Given the description of an element on the screen output the (x, y) to click on. 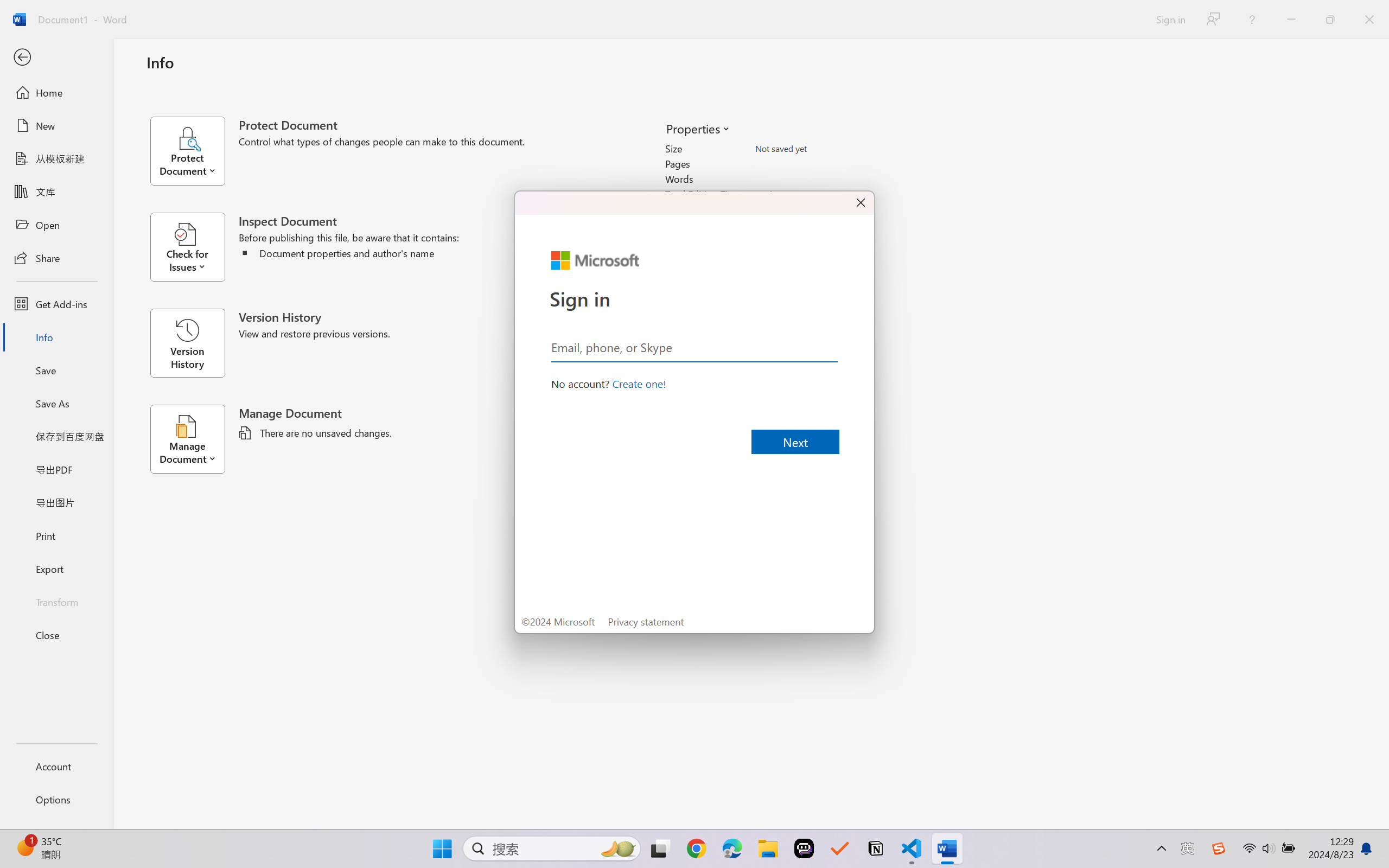
Words (818, 178)
New (56, 125)
Sign in (1170, 18)
Pages (818, 163)
Size (818, 148)
Microsoft Edge (731, 848)
